Given the description of an element on the screen output the (x, y) to click on. 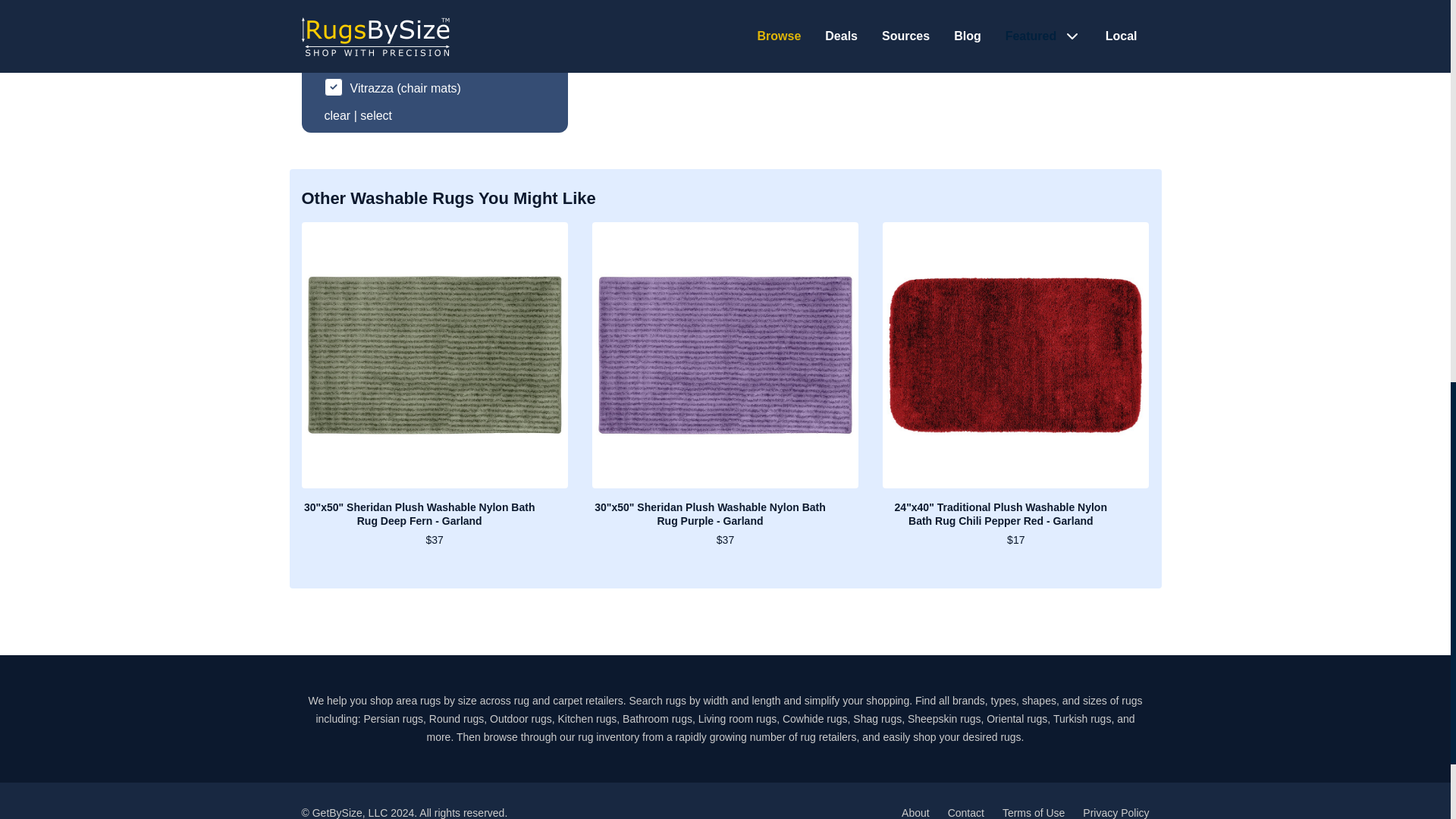
select (375, 115)
About (915, 812)
clear (337, 115)
Terms of Use (1033, 812)
Privacy Policy (1115, 812)
Contact (965, 812)
